Given the description of an element on the screen output the (x, y) to click on. 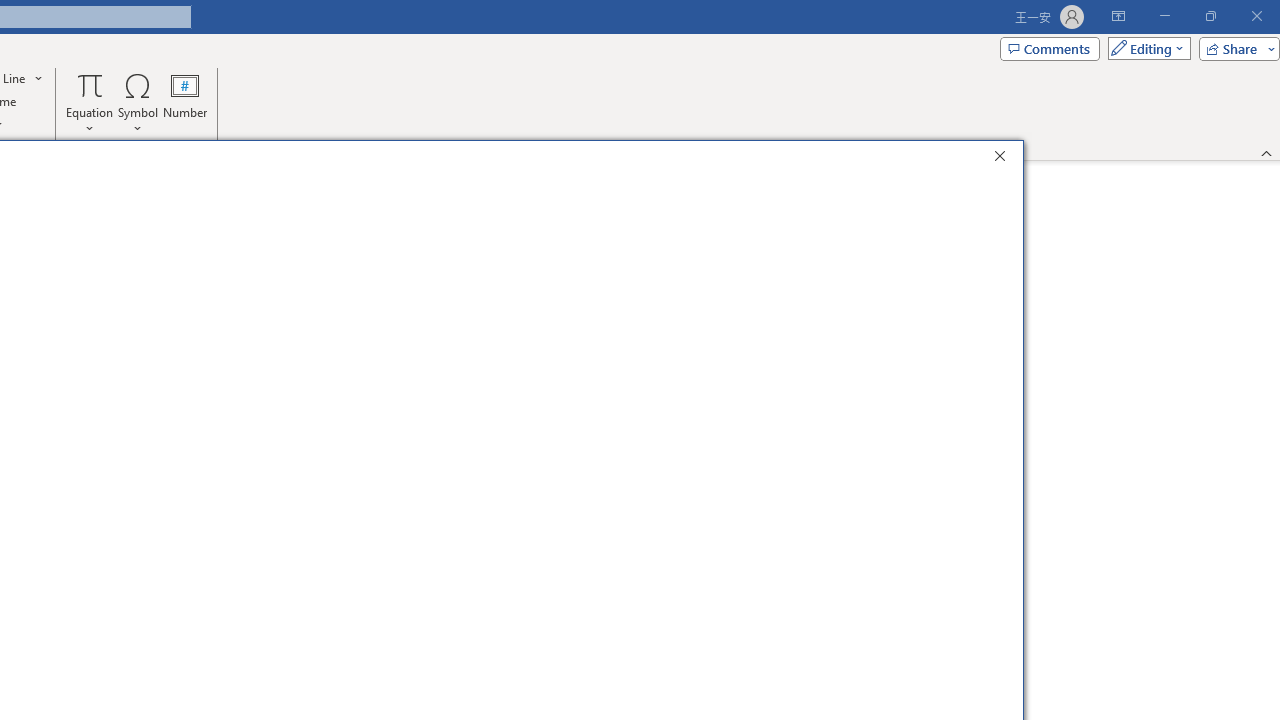
Send a Frown (954, 201)
